Given the description of an element on the screen output the (x, y) to click on. 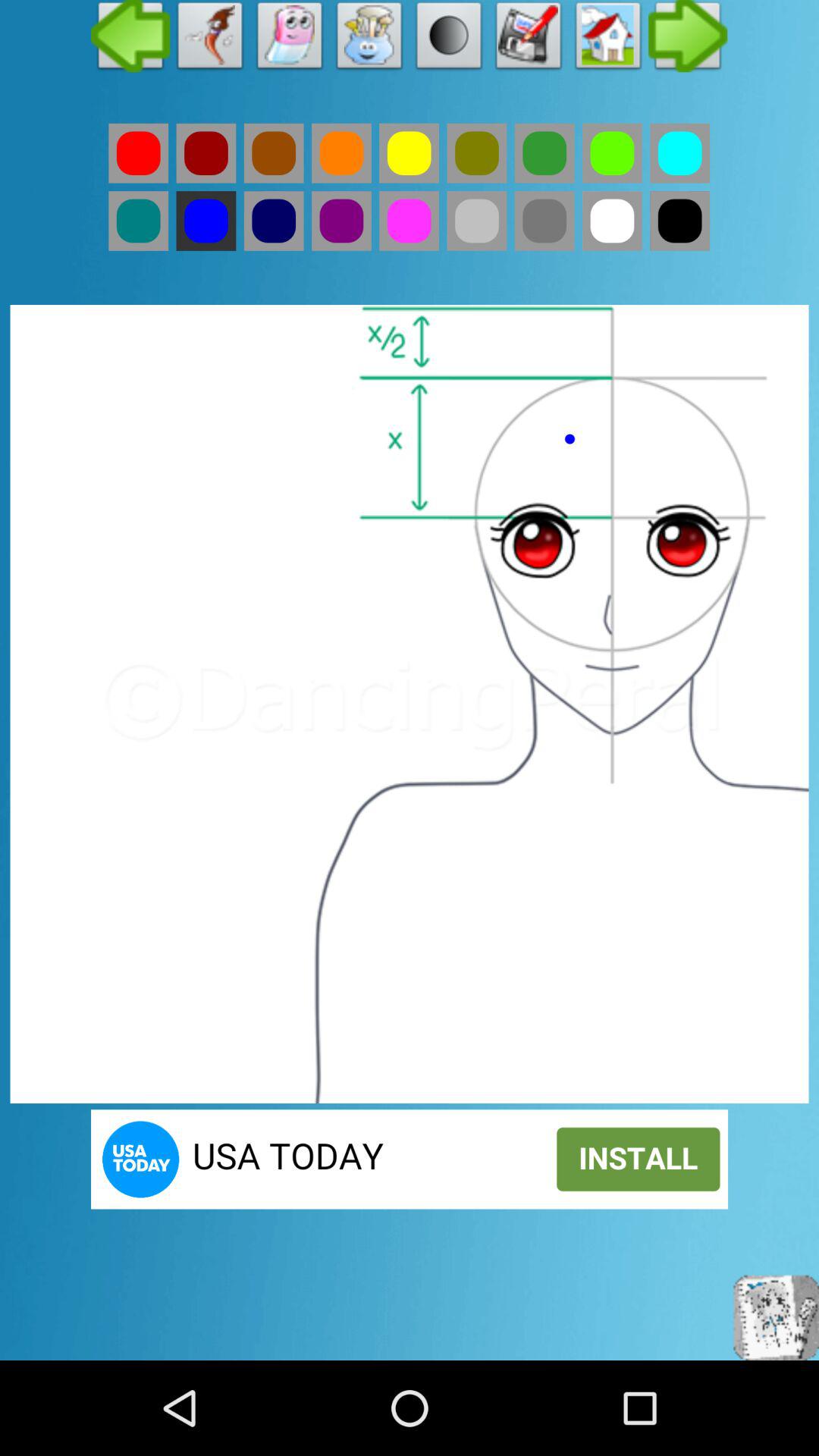
select yellow (409, 153)
